Given the description of an element on the screen output the (x, y) to click on. 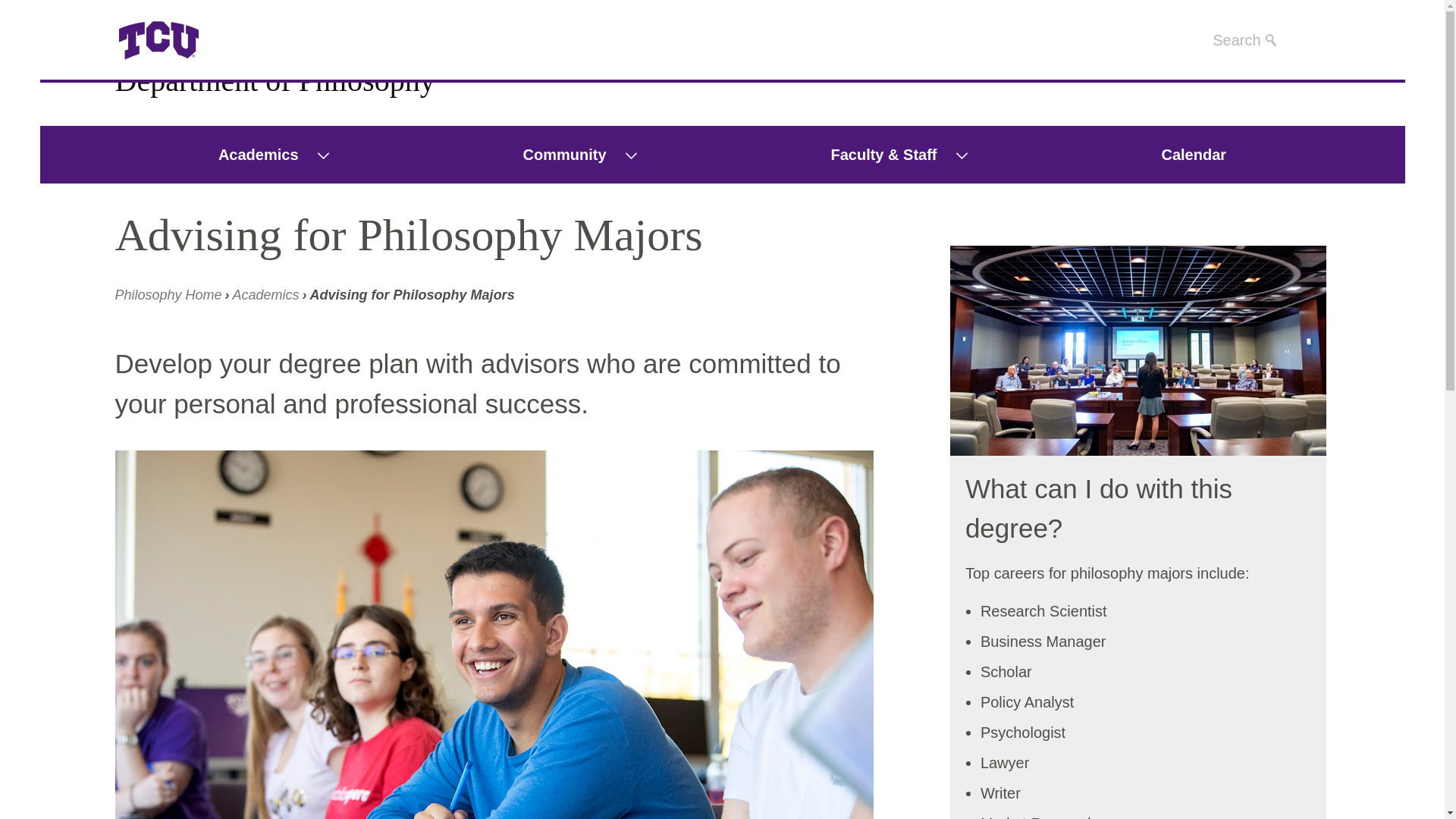
Academics (249, 154)
Philosophy Home (168, 294)
Community (555, 154)
AddRan College of Liberal Arts (168, 294)
Calendar (1192, 154)
Academics (265, 294)
AddRan College of Liberal Arts (219, 41)
Department of Philosophy (275, 80)
